Given the description of an element on the screen output the (x, y) to click on. 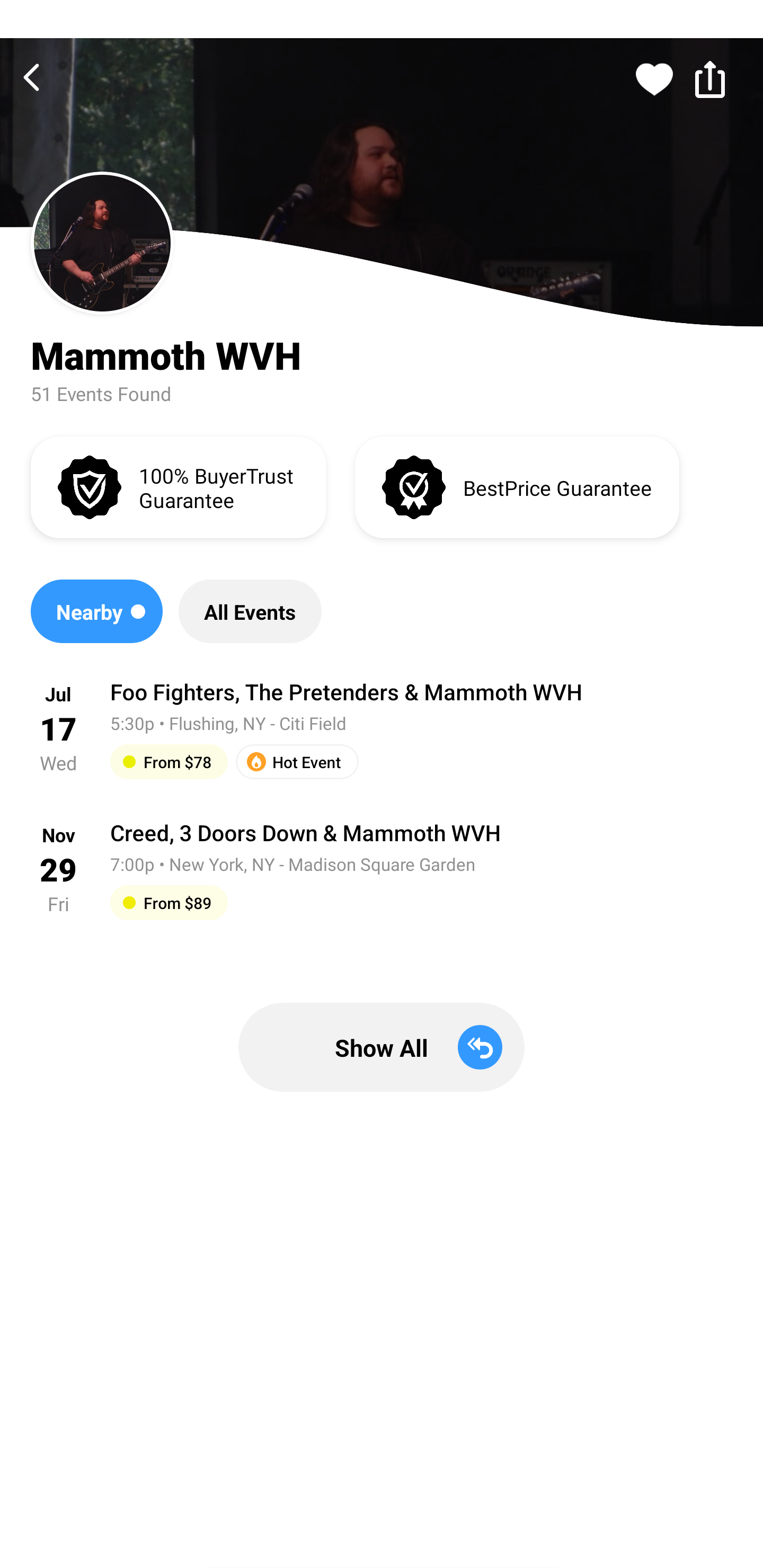
100% BuyerTrust Guarantee (178, 486)
BestPrice Guarantee (516, 486)
Nearby (96, 611)
All Events (249, 611)
Show All (381, 1047)
